Given the description of an element on the screen output the (x, y) to click on. 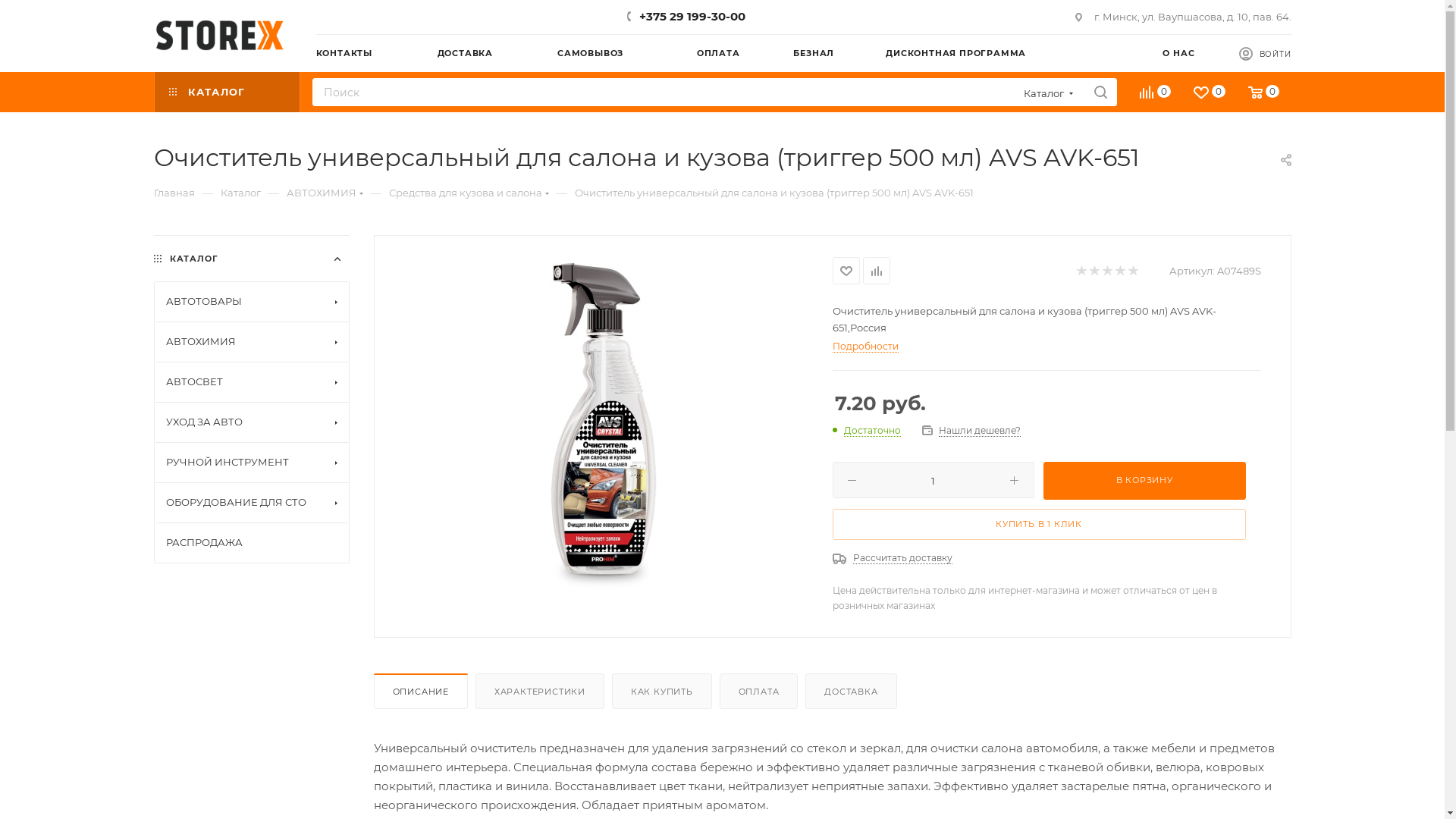
A07489S Element type: hover (602, 426)
0 Element type: text (1210, 93)
0 Element type: text (1264, 93)
1 Element type: hover (1079, 270)
0 Element type: text (1155, 93)
3 Element type: hover (1105, 270)
2 Element type: hover (1093, 270)
STOREX.by Element type: hover (219, 34)
5 Element type: hover (1131, 270)
+375 29 199-30-00 Element type: text (691, 16)
4 Element type: hover (1119, 270)
